Given the description of an element on the screen output the (x, y) to click on. 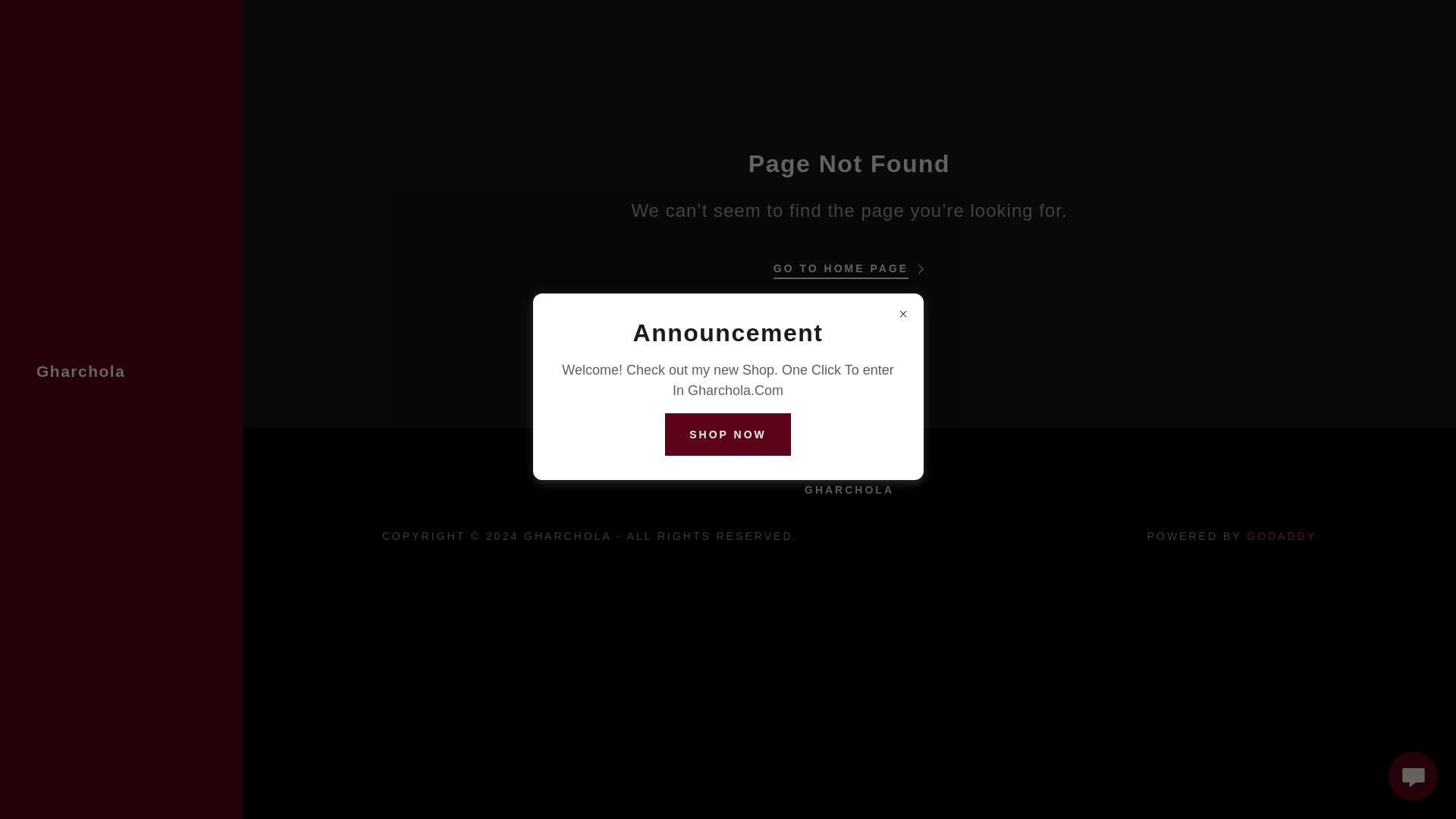
Gharchola (80, 372)
SHOP NOW (727, 434)
GO TO HOME PAGE (848, 263)
GODADDY (1281, 535)
Gharchola (80, 372)
